Given the description of an element on the screen output the (x, y) to click on. 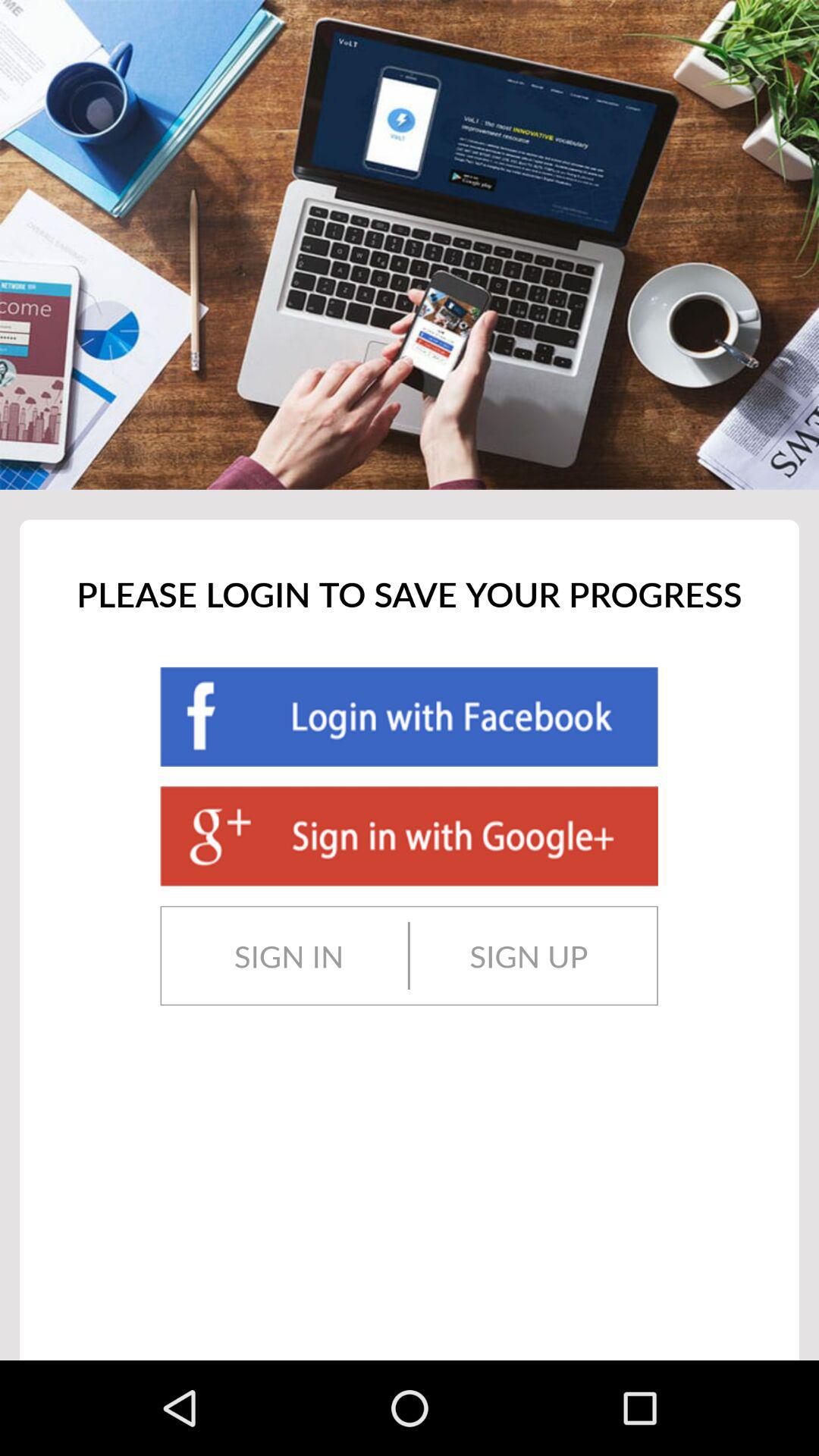
turn on icon above the sign in item (409, 836)
